Given the description of an element on the screen output the (x, y) to click on. 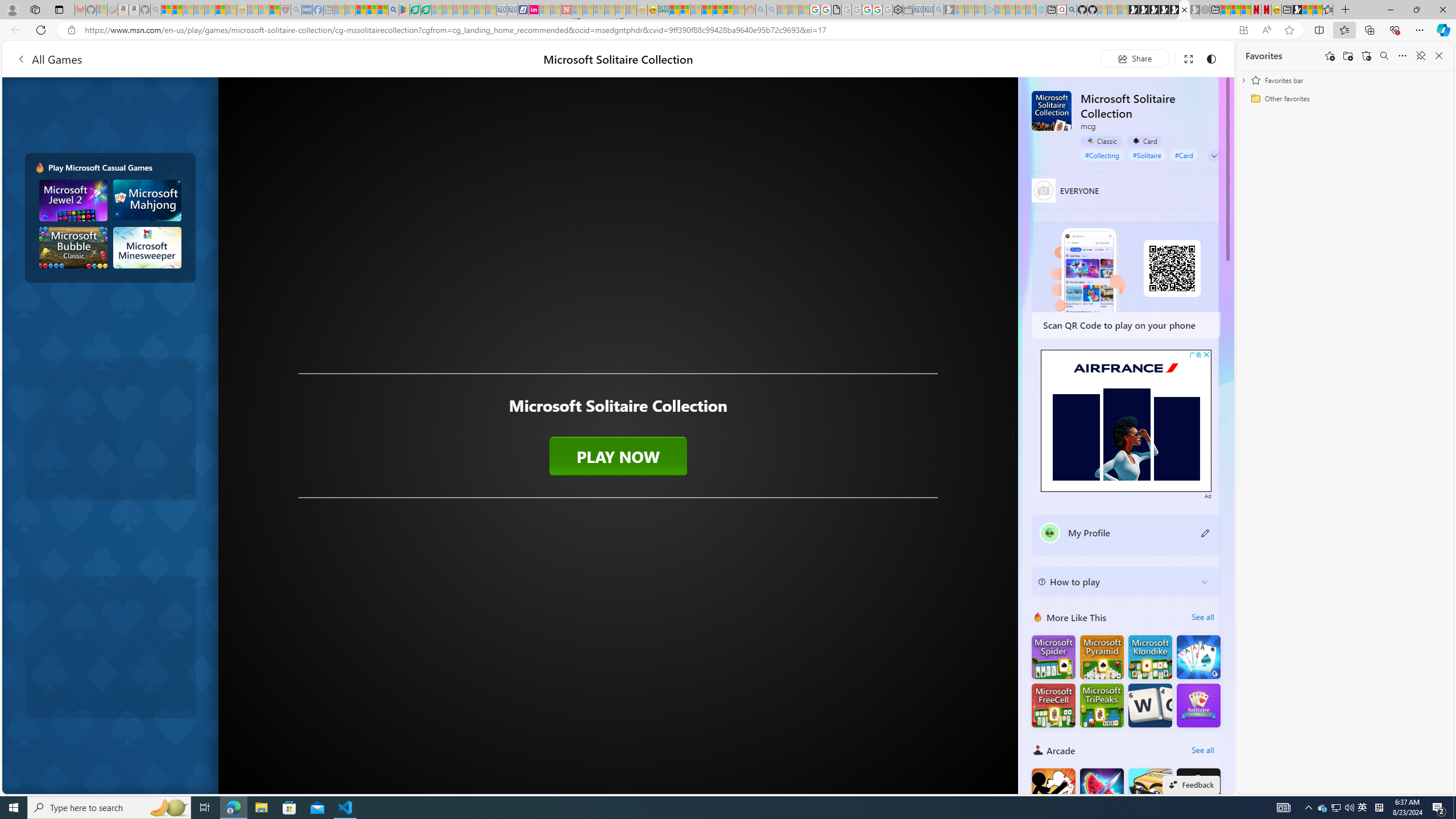
Jobs - lastminute.com Investor Portal (534, 9)
Microsoft FreeCell Solitaire (1053, 705)
#Collecting (1102, 155)
Fire icon (39, 167)
DITOGAMES AG Imprint (663, 9)
